Given the description of an element on the screen output the (x, y) to click on. 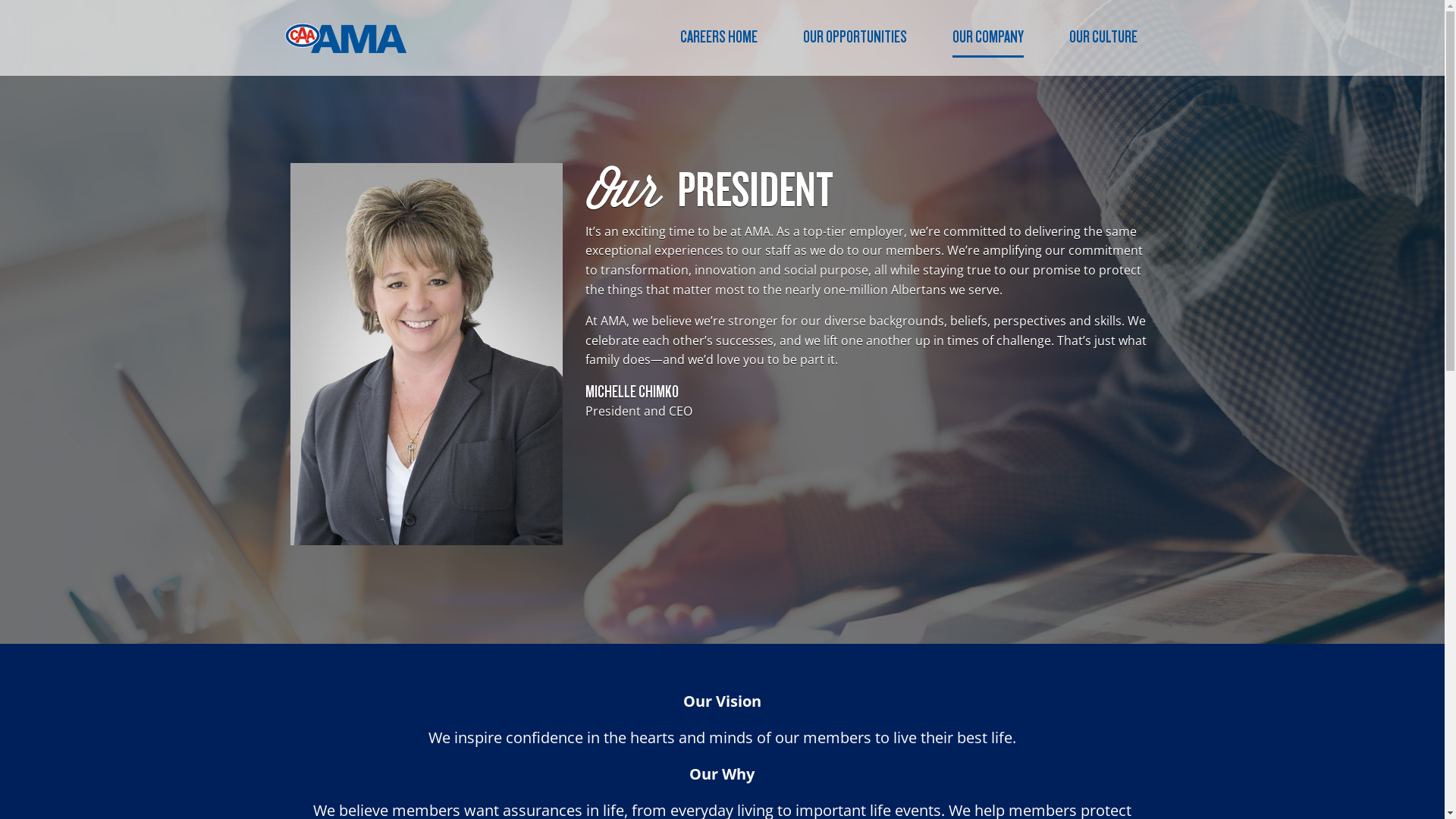
CAREERS HOME Element type: text (717, 36)
OUR CULTURE Element type: text (1103, 36)
OUR OPPORTUNITIES Element type: text (854, 36)
OUR COMPANY Element type: text (987, 37)
